Given the description of an element on the screen output the (x, y) to click on. 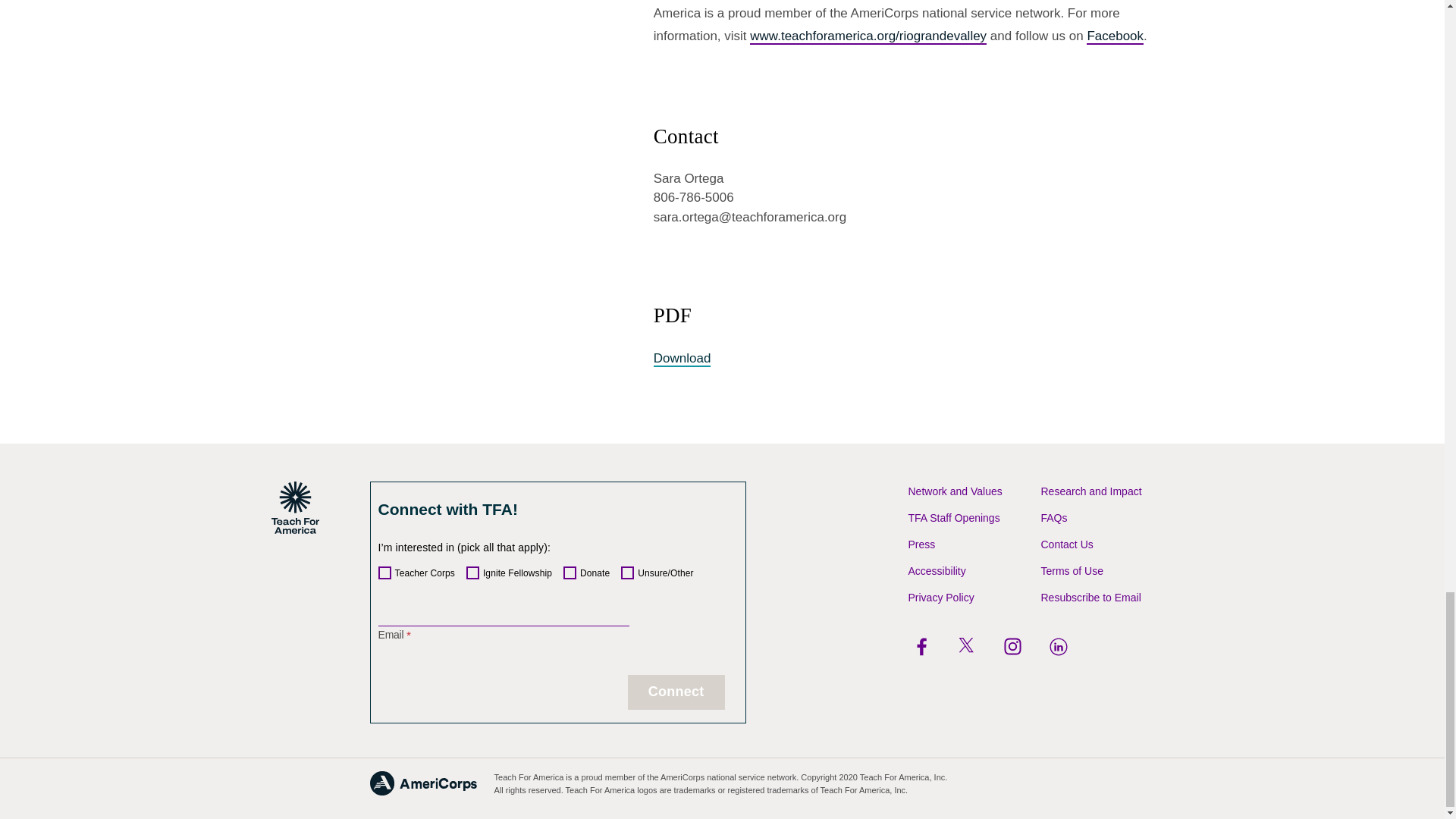
Network and Values (955, 491)
FAQs (1054, 517)
Contact Us (1067, 544)
Research and Impact (1091, 491)
Press (922, 544)
TFA Staff Openings (954, 517)
Connect (676, 692)
Facebook (1114, 36)
Download (682, 358)
Connect (676, 692)
